Given the description of an element on the screen output the (x, y) to click on. 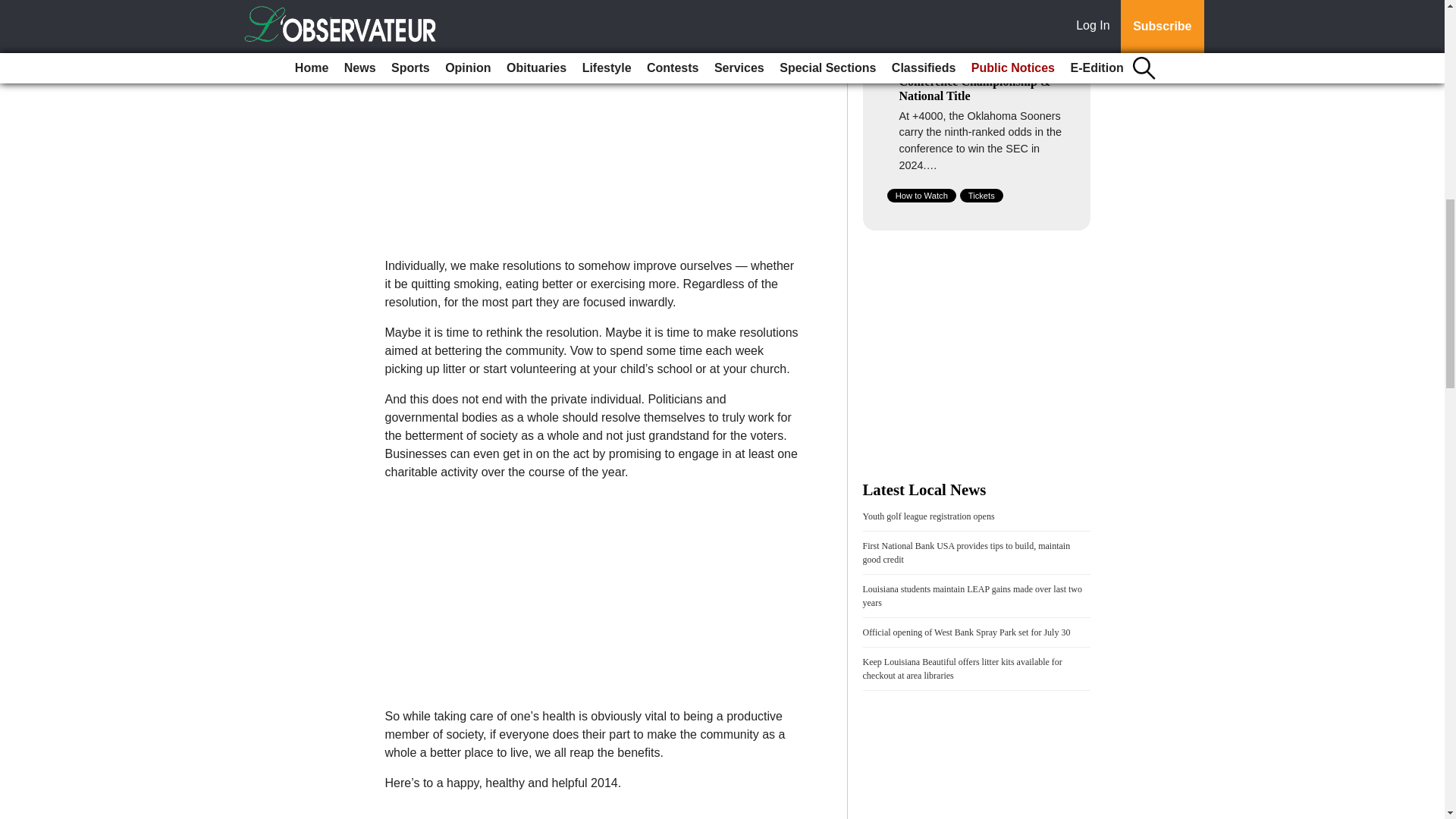
Youth golf league registration opens (928, 516)
Tickets (981, 195)
Official opening of West Bank Spray Park set for July 30 (966, 632)
How to Watch (921, 195)
